Given the description of an element on the screen output the (x, y) to click on. 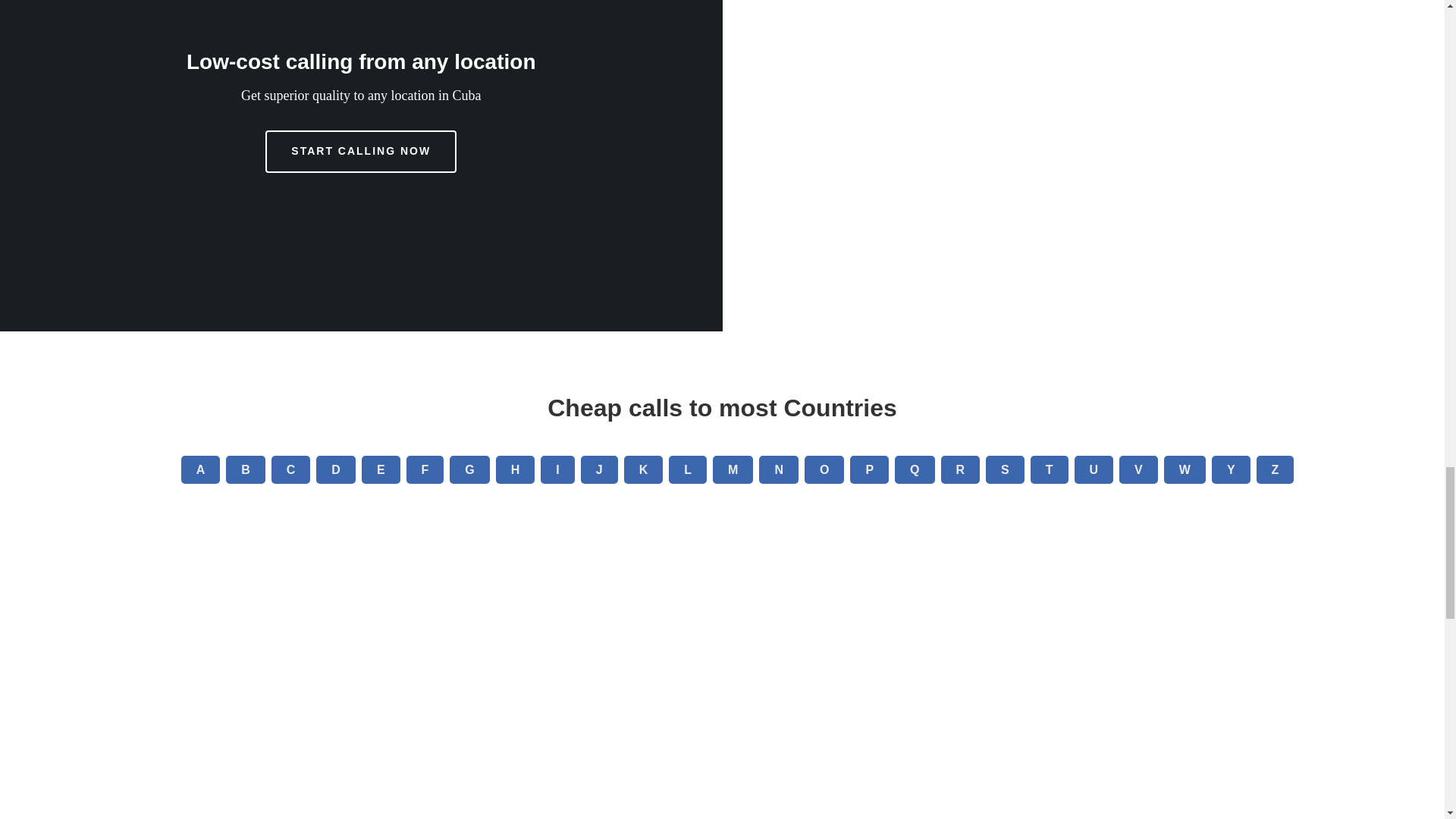
F (425, 469)
G (469, 469)
START CALLING NOW (360, 151)
D (335, 469)
A (200, 469)
E (380, 469)
B (244, 469)
C (290, 469)
